Given the description of an element on the screen output the (x, y) to click on. 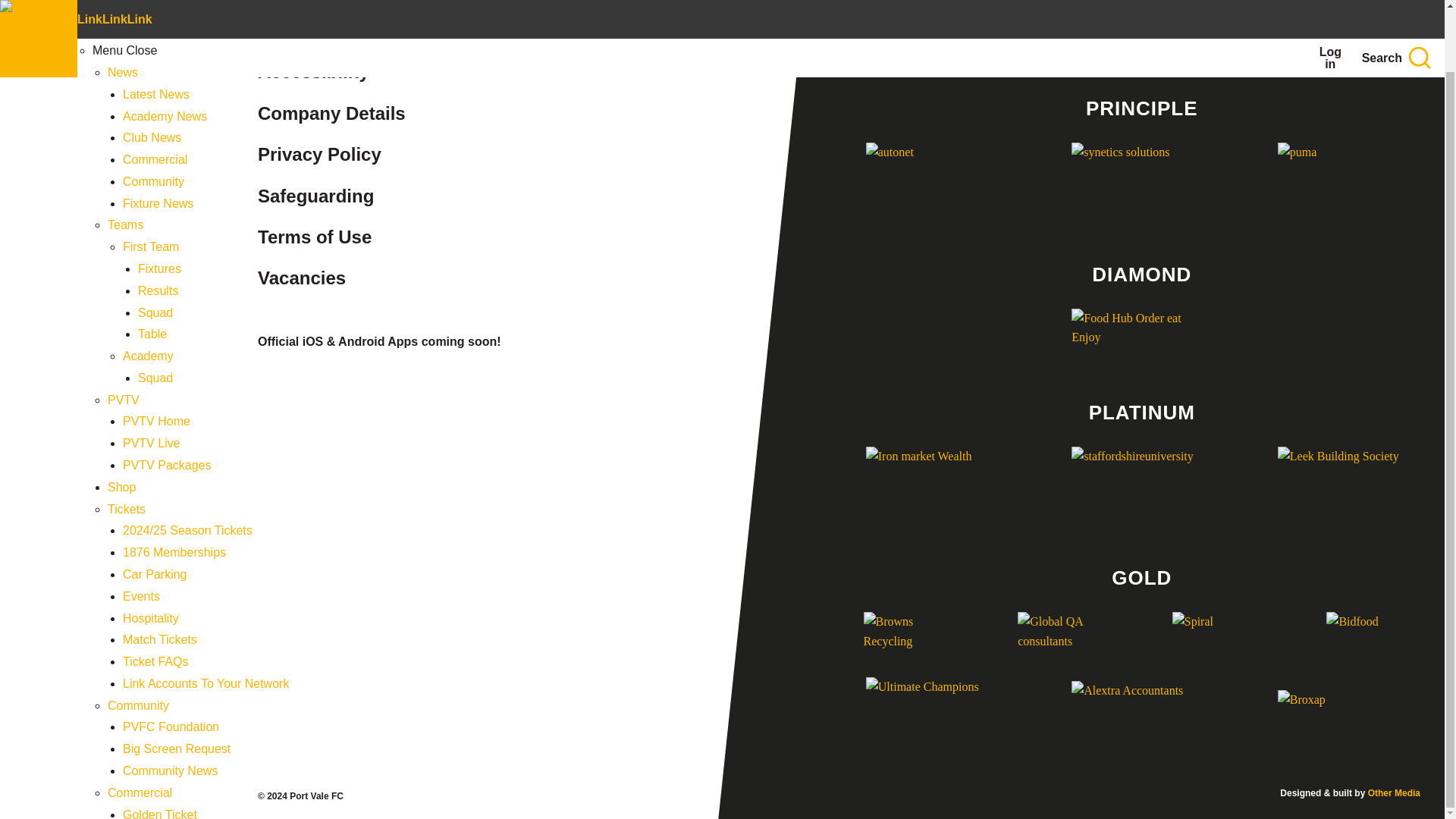
Shop (121, 419)
Ticket FAQs (155, 594)
Hospitality (150, 549)
Commercial (139, 725)
Staffordshire Uni (1141, 485)
Ironmarket (936, 485)
News (122, 5)
Fixtures (159, 201)
First Team (150, 178)
Community News (169, 703)
